Given the description of an element on the screen output the (x, y) to click on. 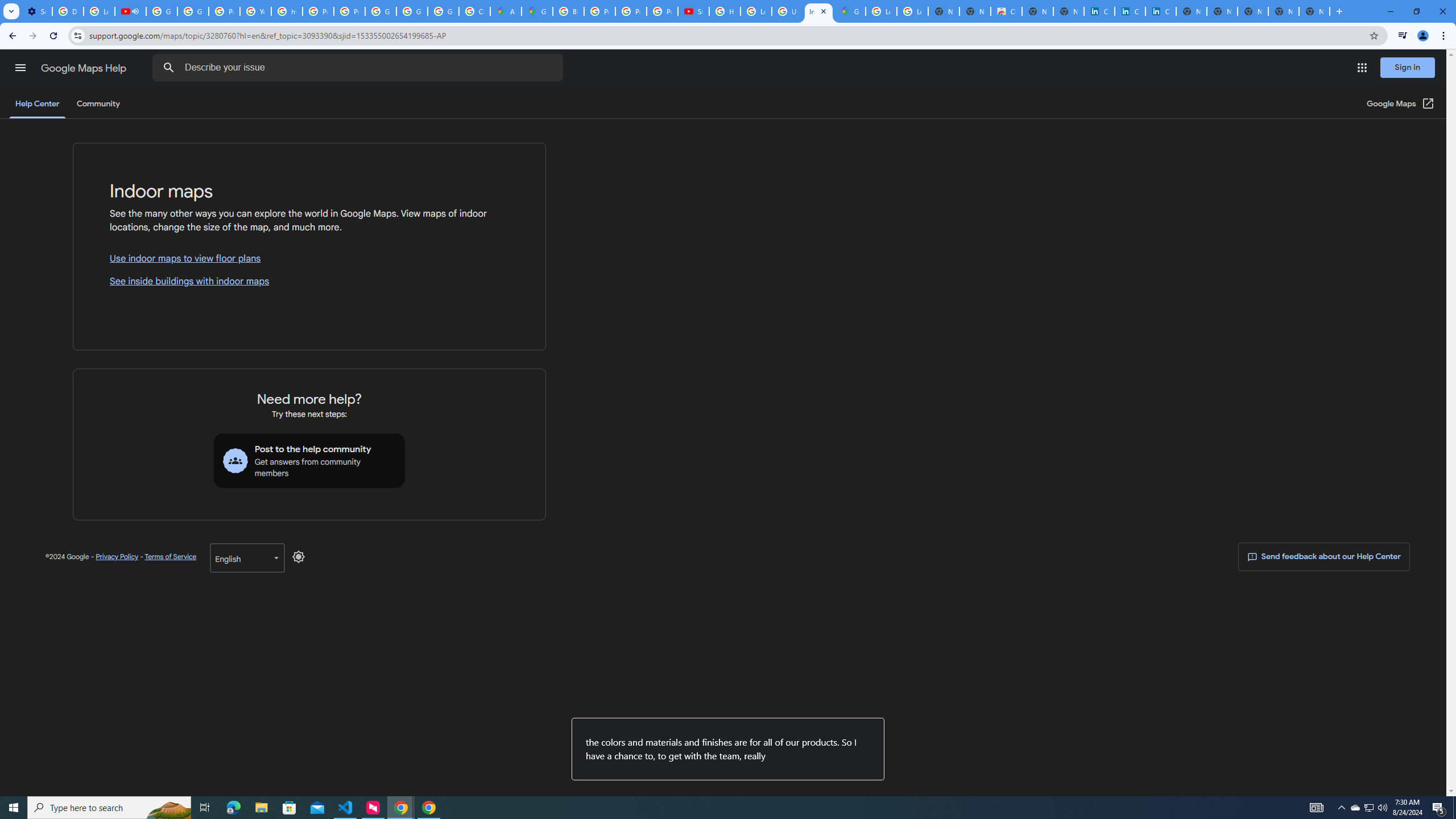
Terms of Service (170, 556)
Search Help Center (168, 67)
Help Center (36, 103)
Community (97, 103)
New Tab (1314, 11)
Create your Google Account (474, 11)
Mute tab (135, 10)
